Given the description of an element on the screen output the (x, y) to click on. 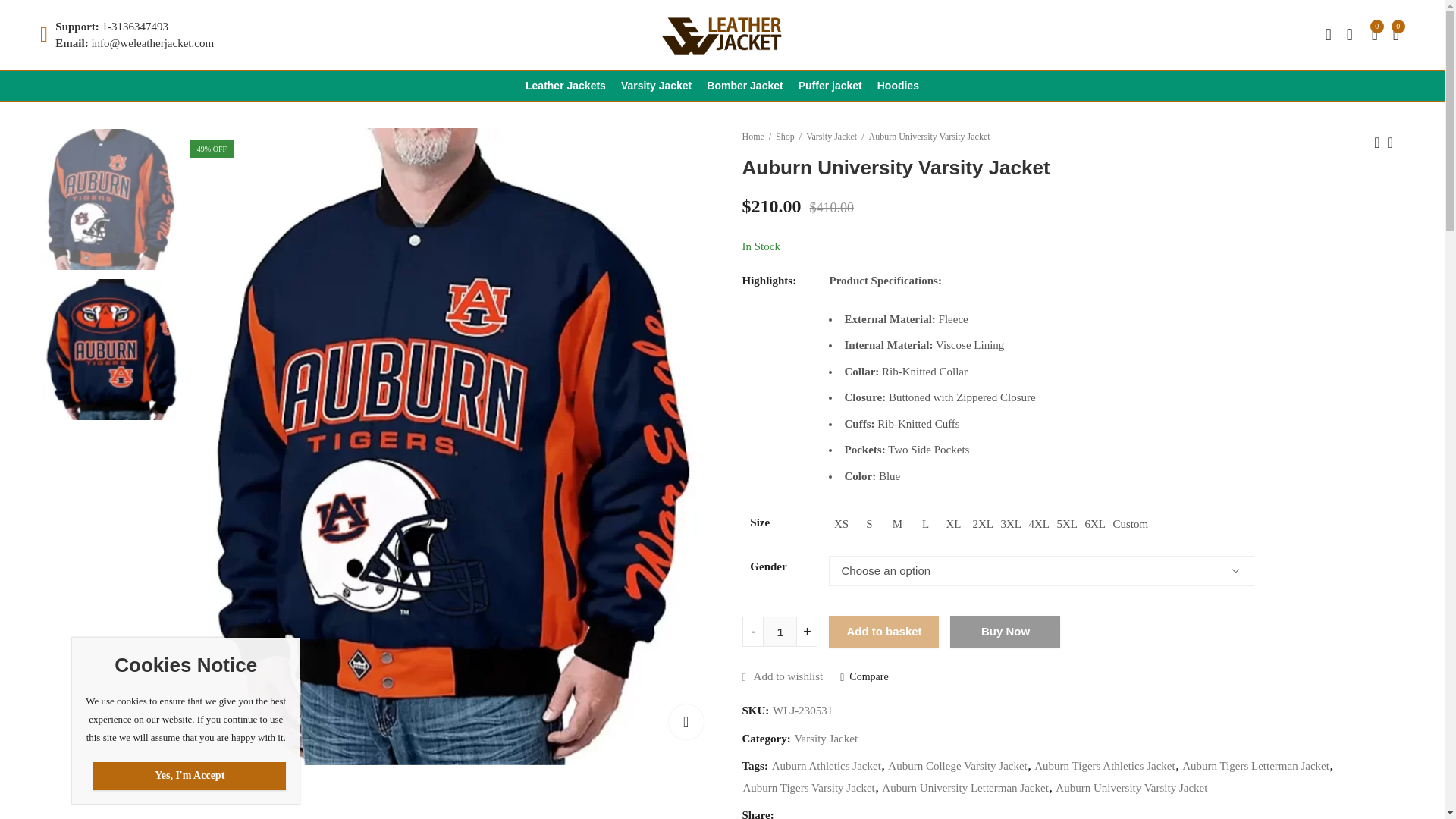
Bomber Jacket (744, 85)
Auburn Athletics Jacket (825, 766)
Buy Now (1004, 631)
Auburn Tigers Athletics Jacket (1103, 766)
L (924, 523)
Varsity Jacket (655, 85)
Puffer jacket (829, 85)
XS (840, 523)
4XL (1037, 523)
6XL (1093, 523)
Varsity Jacket (825, 739)
Auburn Tigers Letterman Jacket (1255, 766)
Auburn University Letterman Jacket (965, 788)
S (868, 523)
3XL (1009, 523)
